Given the description of an element on the screen output the (x, y) to click on. 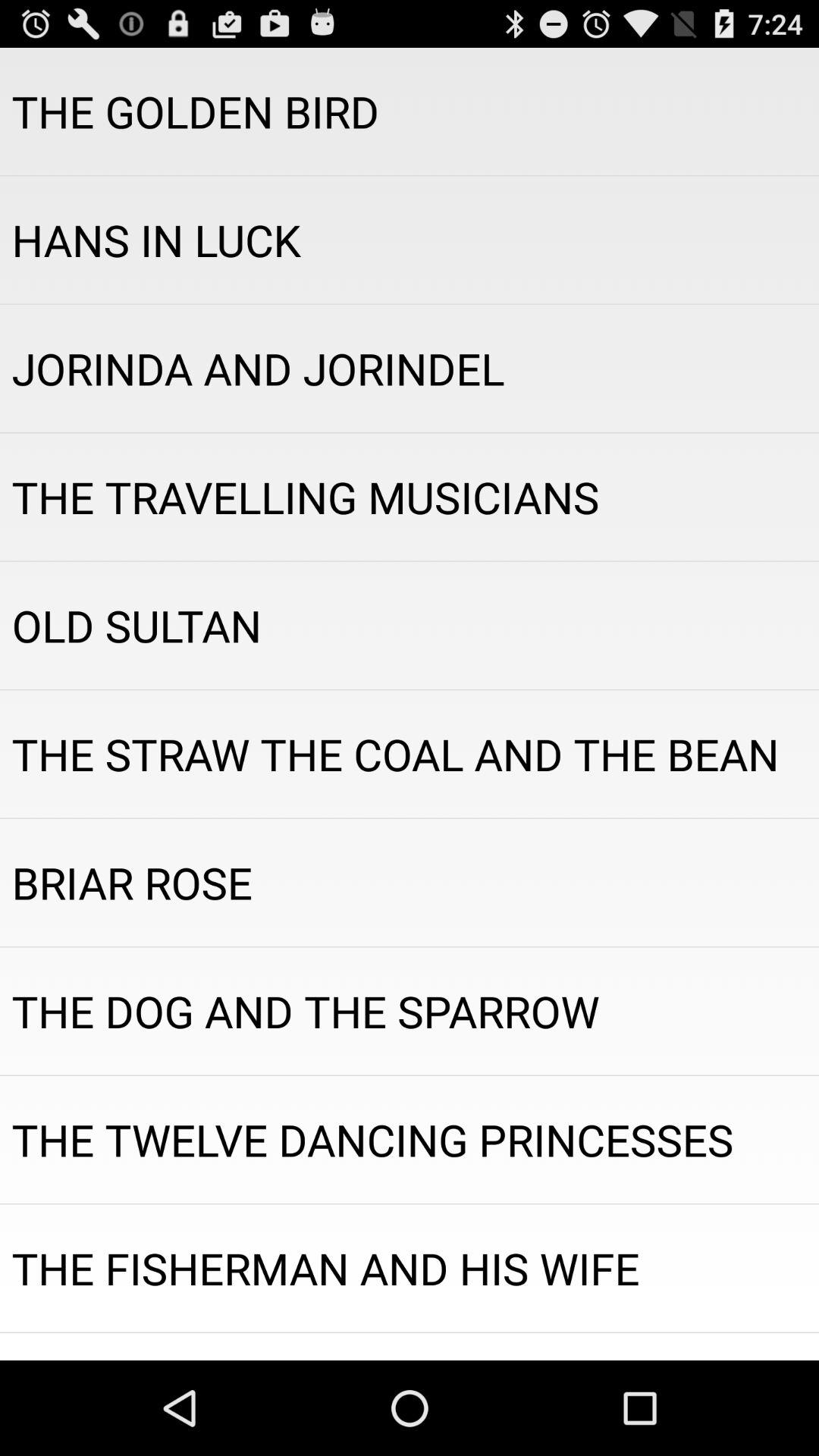
turn off the the golden bird app (409, 111)
